Given the description of an element on the screen output the (x, y) to click on. 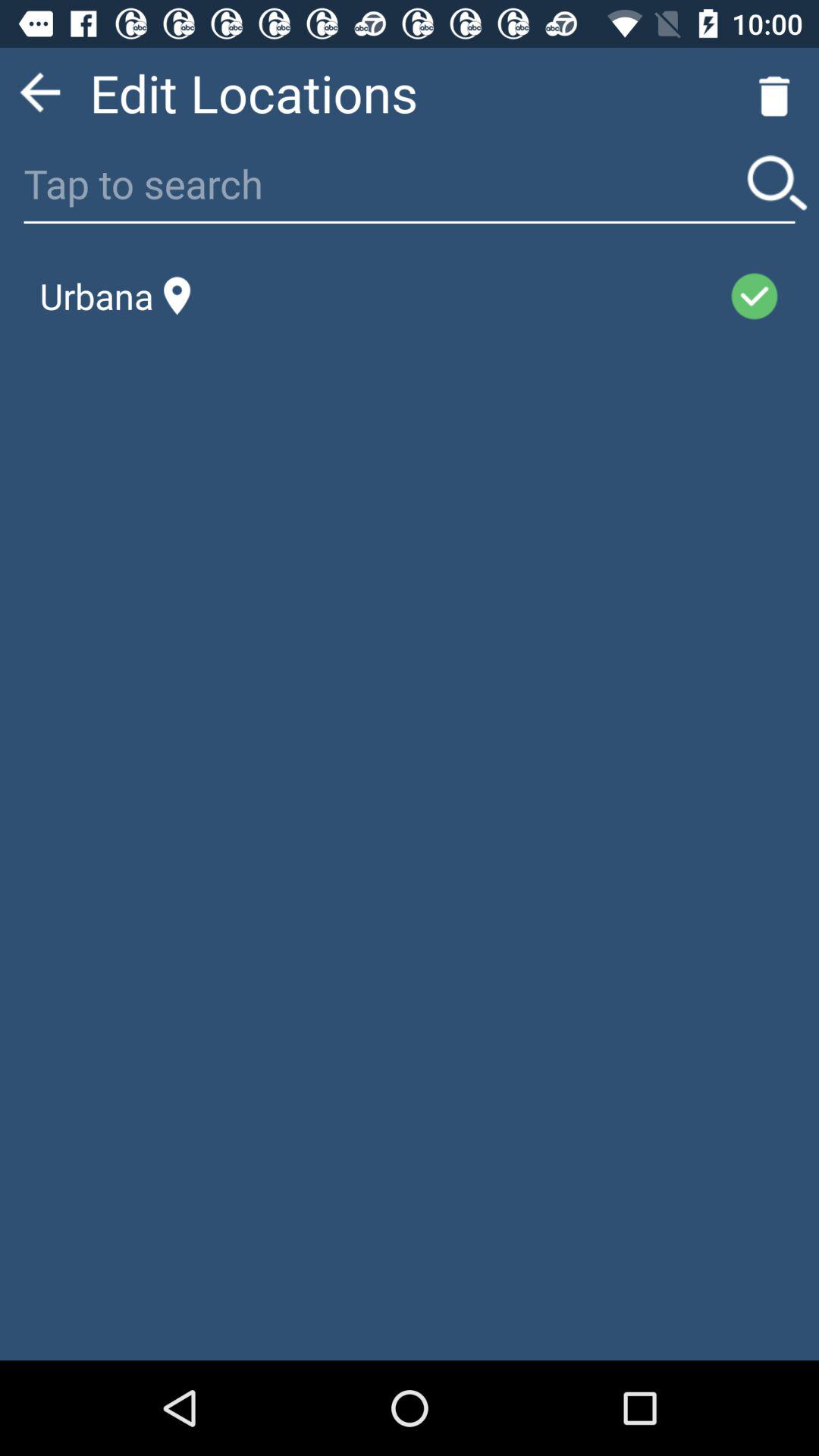
launch the icon next to urbana item (460, 296)
